Given the description of an element on the screen output the (x, y) to click on. 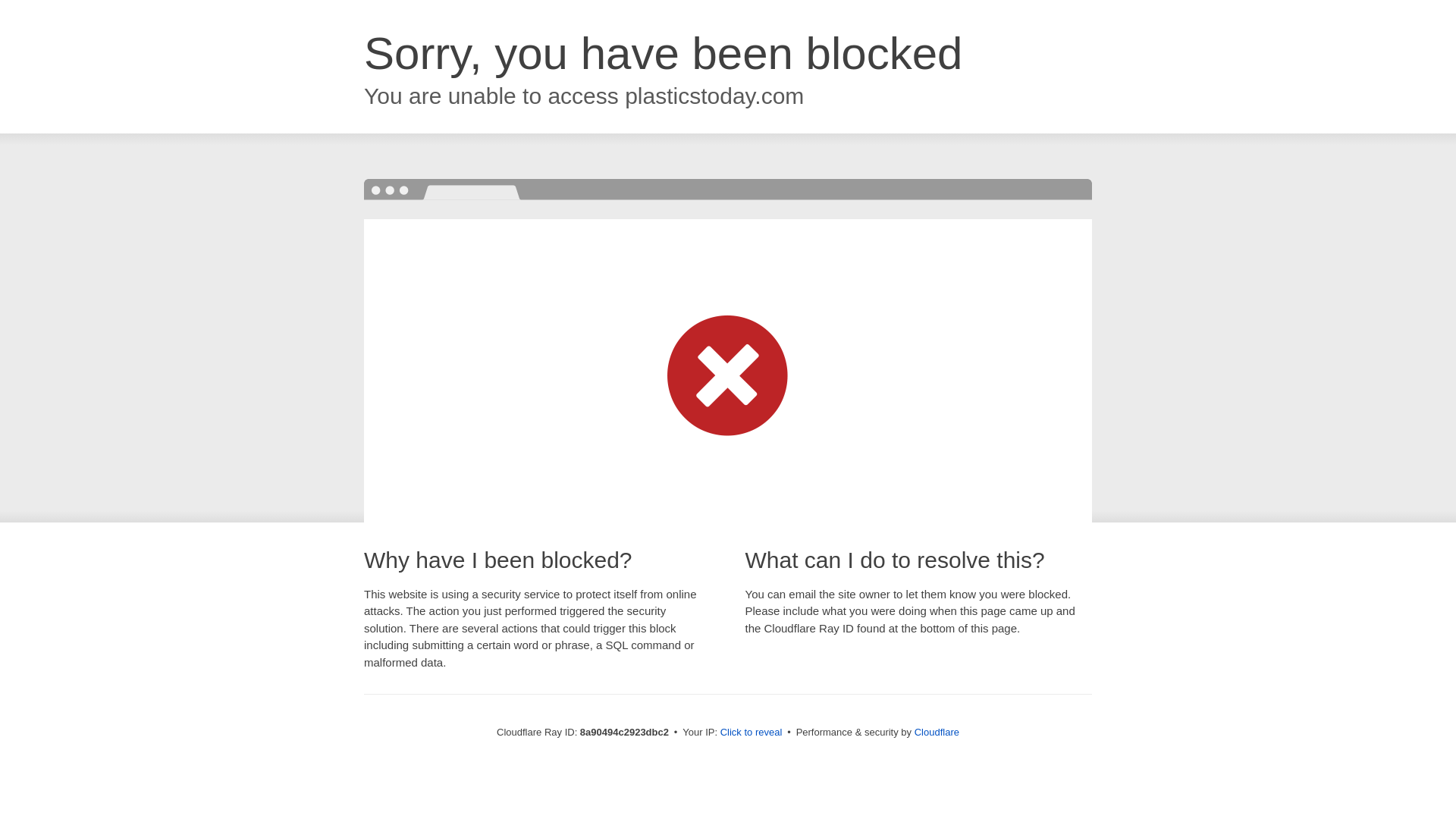
Click to reveal (751, 732)
Cloudflare (936, 731)
